Given the description of an element on the screen output the (x, y) to click on. 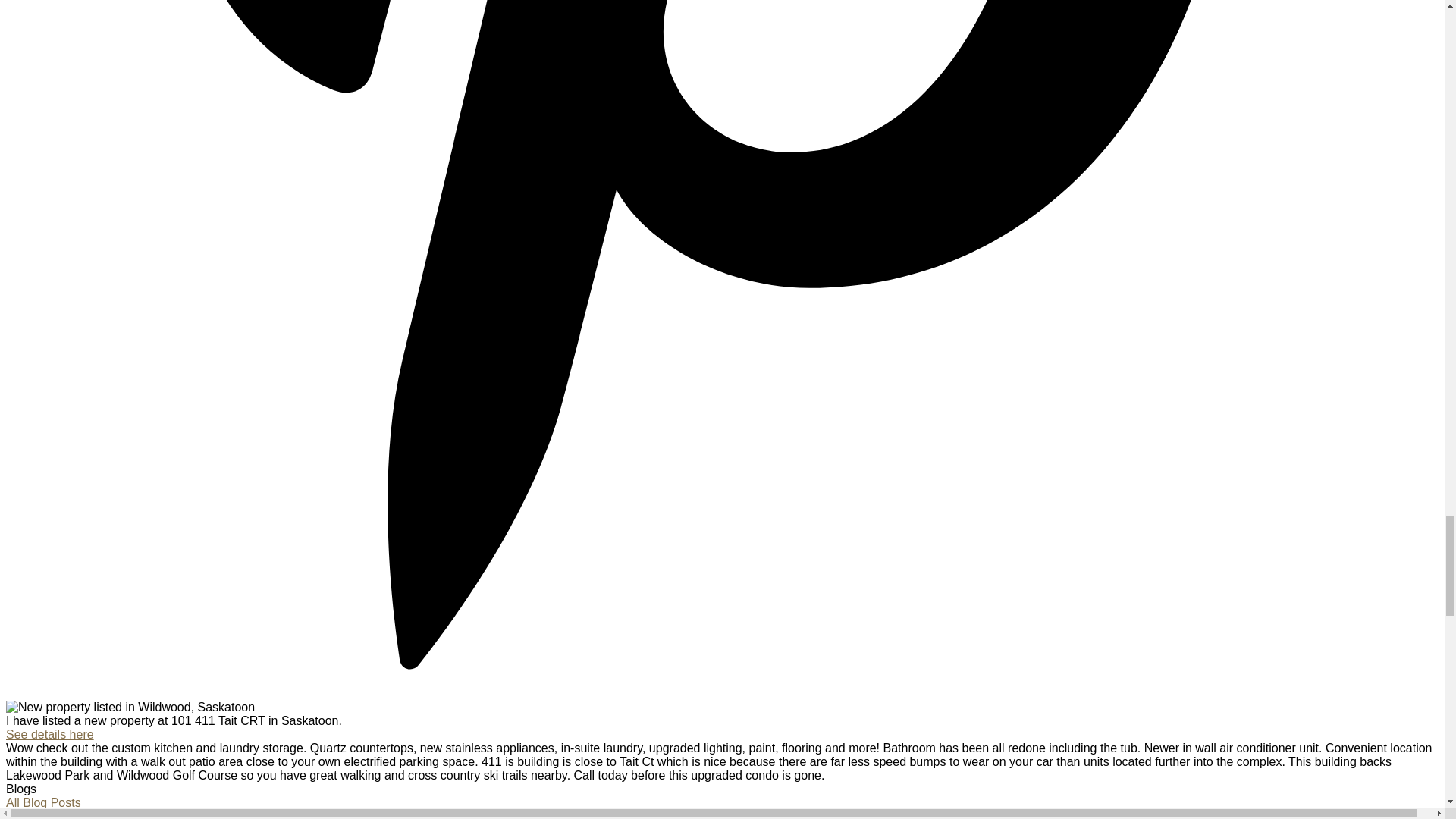
See details here (49, 734)
New Listings (40, 814)
All Blog Posts (43, 802)
